Given the description of an element on the screen output the (x, y) to click on. 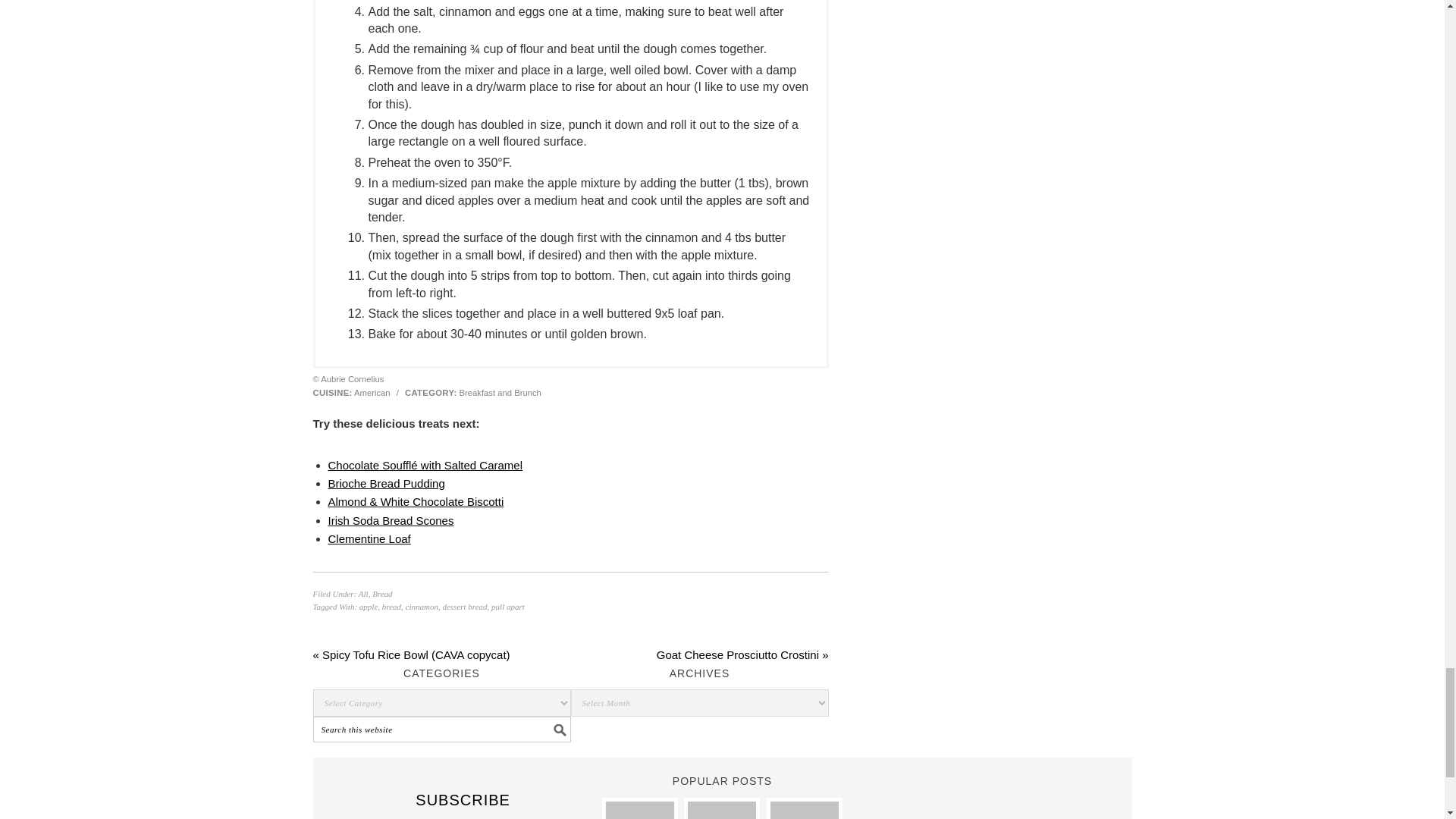
Irish Soda Bread Scones (389, 520)
dessert bread (464, 605)
Clementine Loaf (368, 538)
apple (368, 605)
Bread (381, 593)
Brioche Bread Pudding (385, 482)
All (363, 593)
pull apart (508, 605)
Steel Cut Oatmeal with Blackened Figs (804, 810)
bread (391, 605)
cinnamon (422, 605)
